Given the description of an element on the screen output the (x, y) to click on. 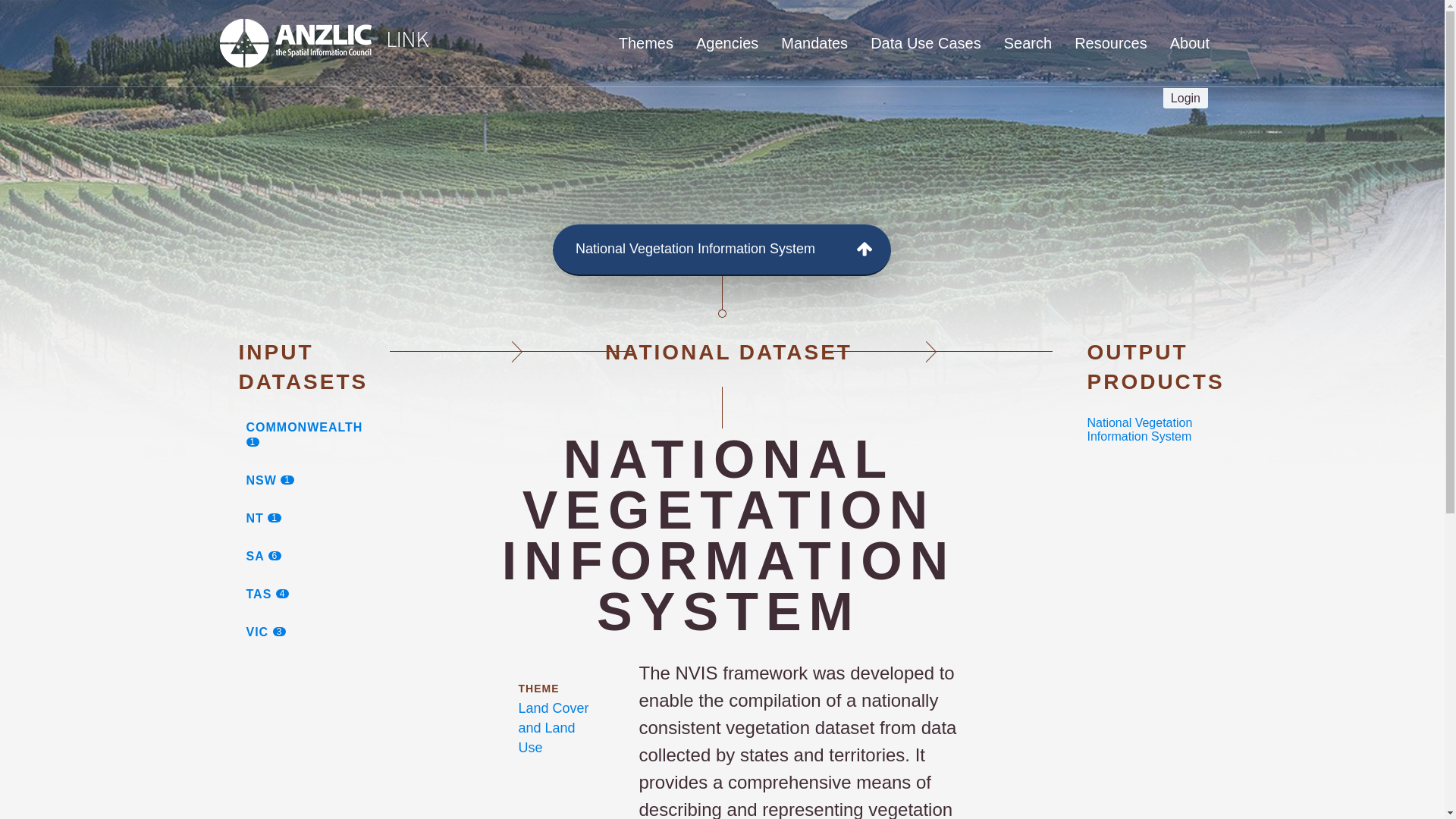
THE LOCATION INFORMATION KNOWLEDGE PLATFORM (446, 128)
Data Use Cases (316, 435)
Agencies (316, 480)
Themes (925, 42)
Home (316, 517)
Login (726, 42)
